Given the description of an element on the screen output the (x, y) to click on. 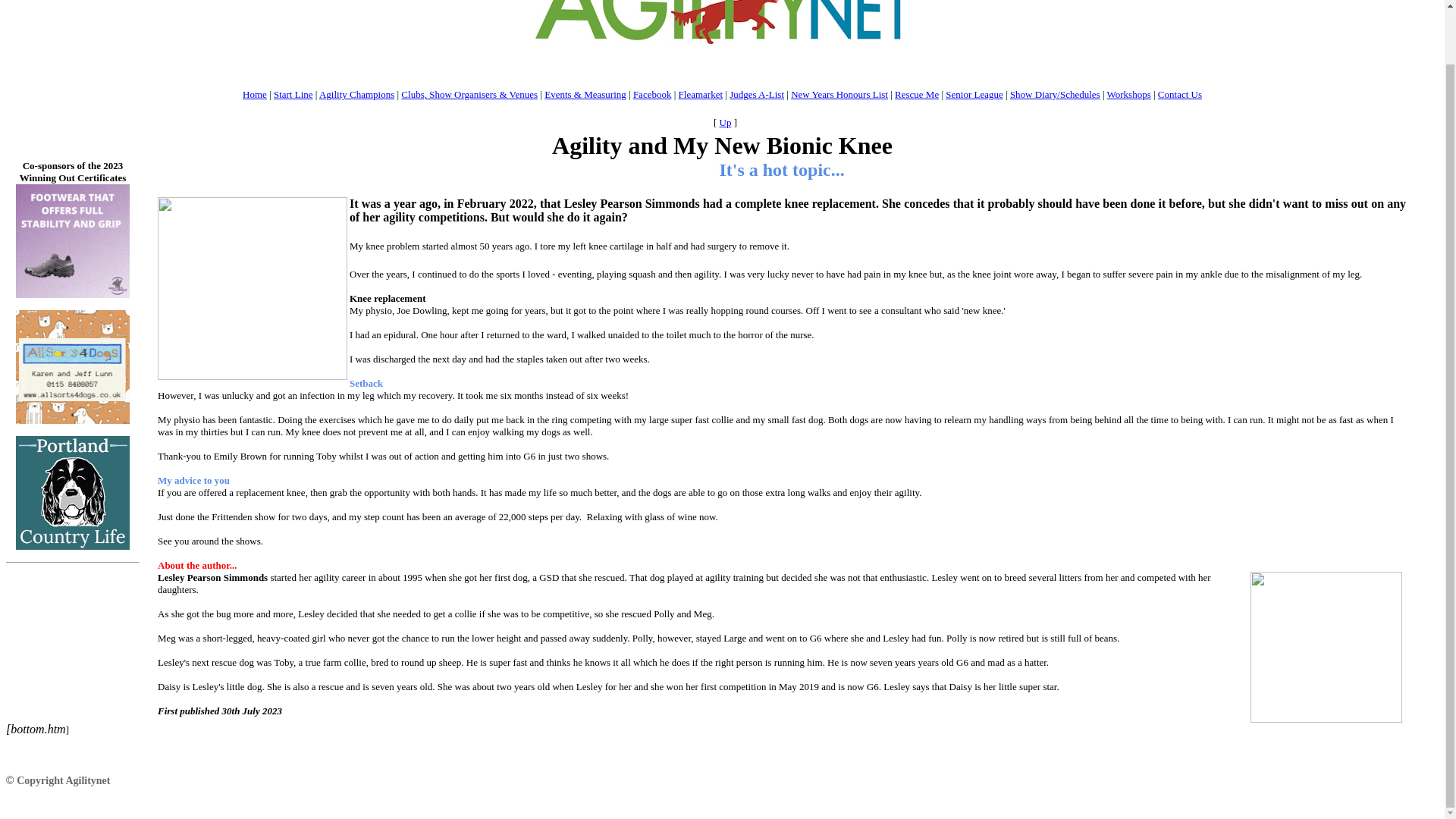
Agility Champions (356, 93)
Up (725, 122)
Contact Us (1179, 93)
Home (254, 93)
Facebook (652, 93)
Judges A-List (756, 93)
New Years Honours List (839, 93)
Rescue Me (917, 93)
Workshops (1128, 93)
Start Line (293, 93)
